Given the description of an element on the screen output the (x, y) to click on. 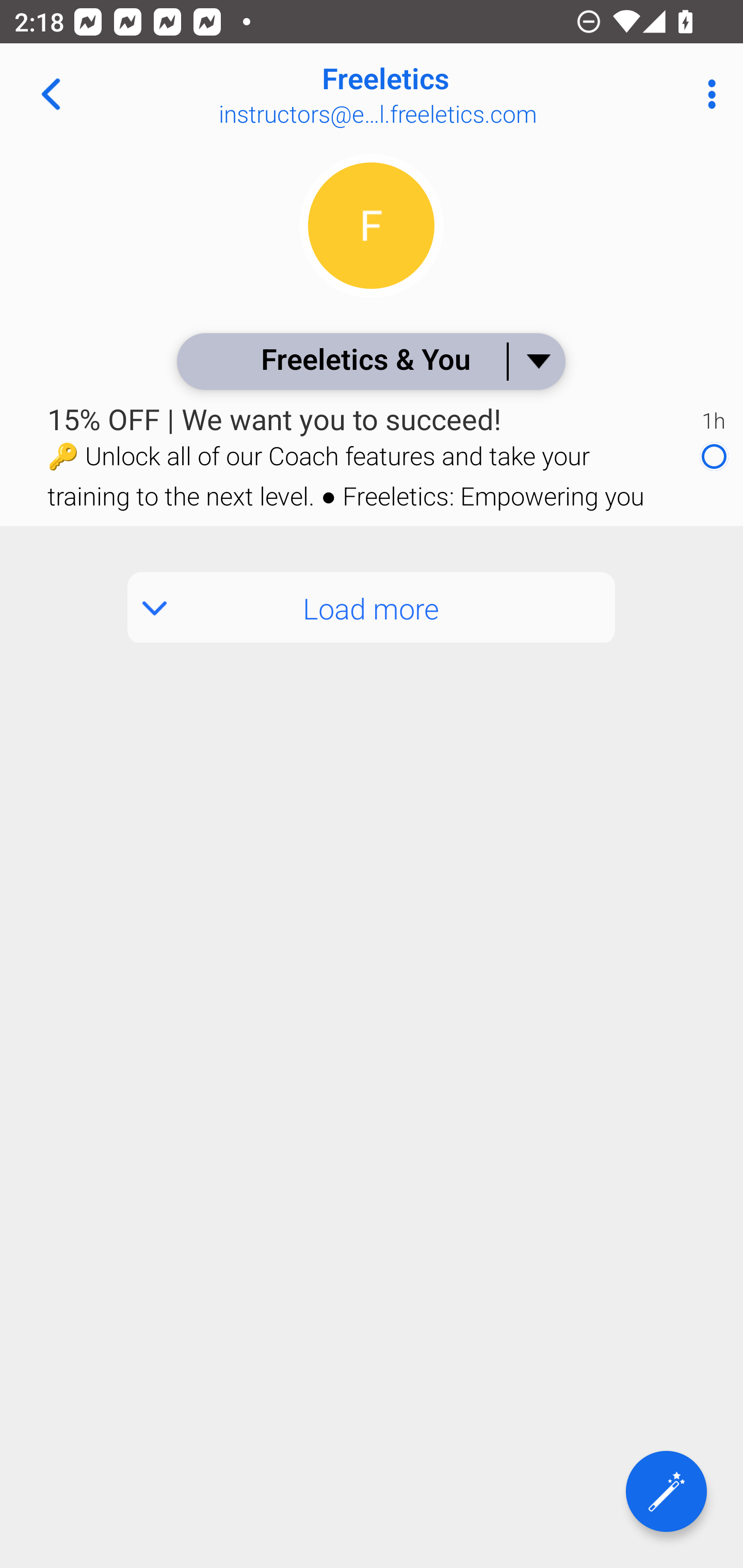
Navigate up (50, 93)
Freeletics instructors@email.freeletics.com (436, 93)
More Options (706, 93)
Freeletics & You (370, 361)
Load more (371, 607)
